Given the description of an element on the screen output the (x, y) to click on. 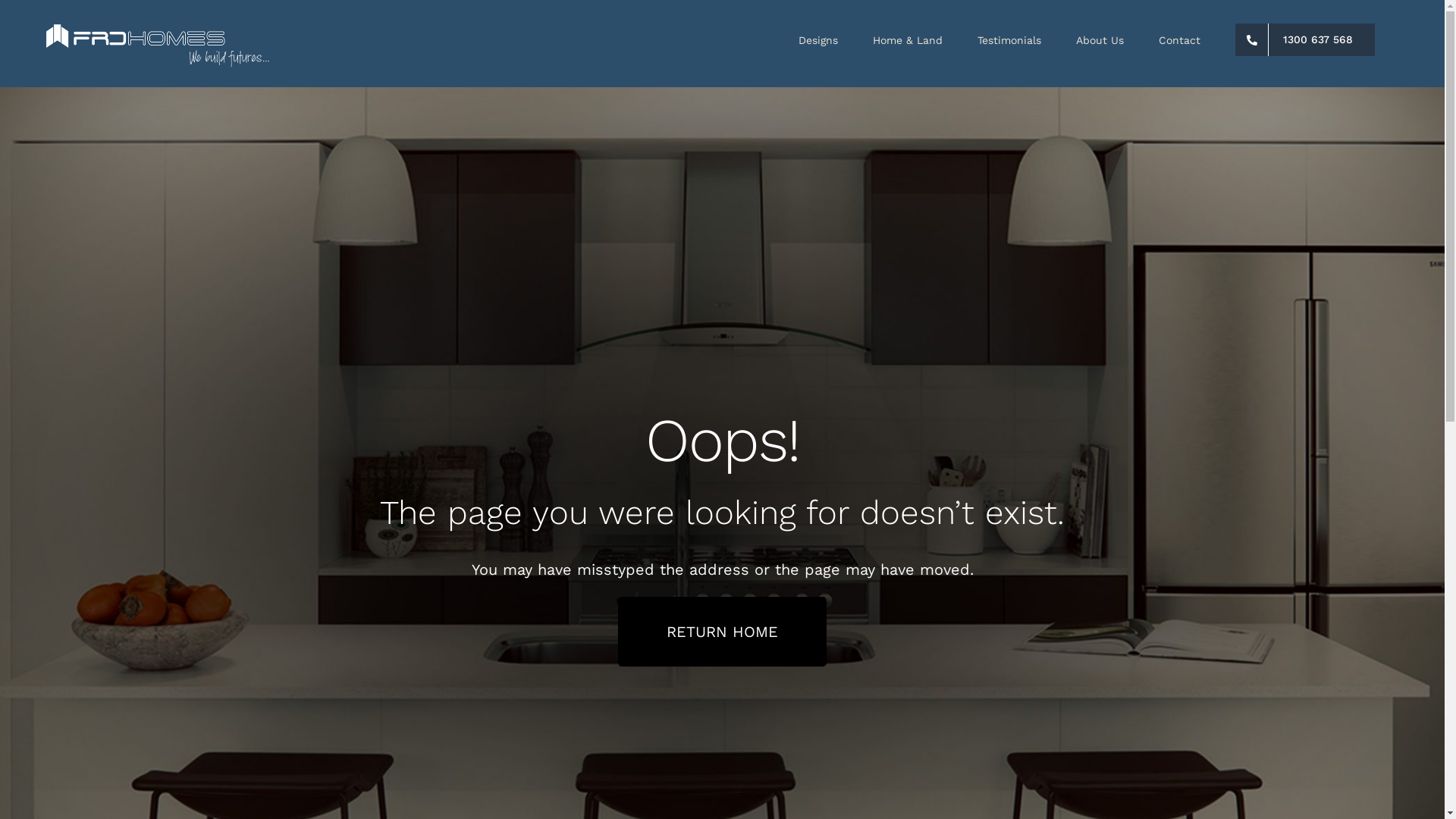
1300 637 568 Element type: text (1304, 39)
Testimonials Element type: text (1009, 39)
Home & Land Element type: text (907, 39)
Contact Element type: text (1179, 39)
RETURN HOME Element type: text (722, 631)
Designs Element type: text (817, 39)
About Us Element type: text (1099, 39)
